Given the description of an element on the screen output the (x, y) to click on. 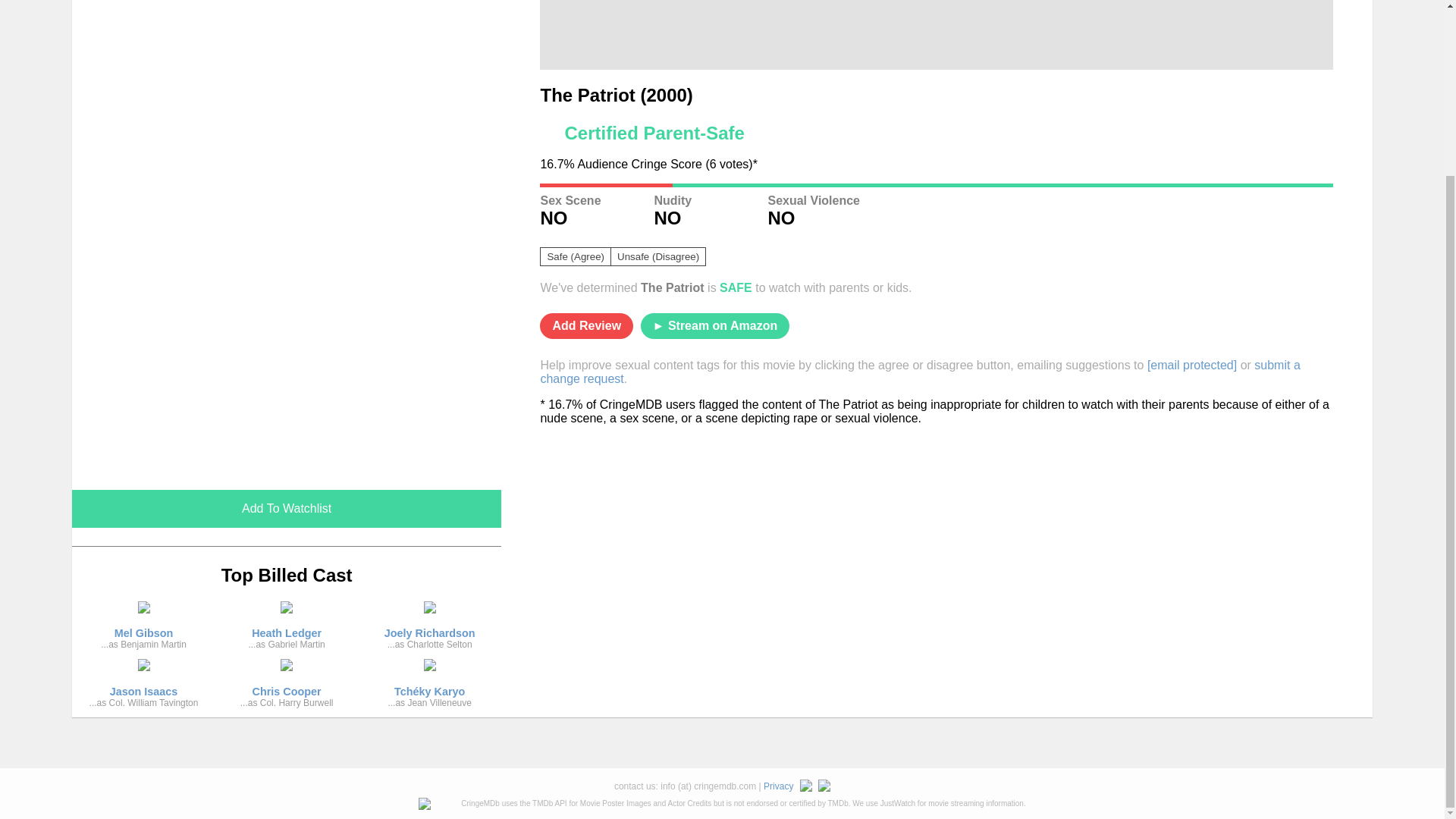
Add Review (586, 325)
Add To Watchlist (429, 630)
submit a change request (285, 508)
Privacy (920, 371)
